Given the description of an element on the screen output the (x, y) to click on. 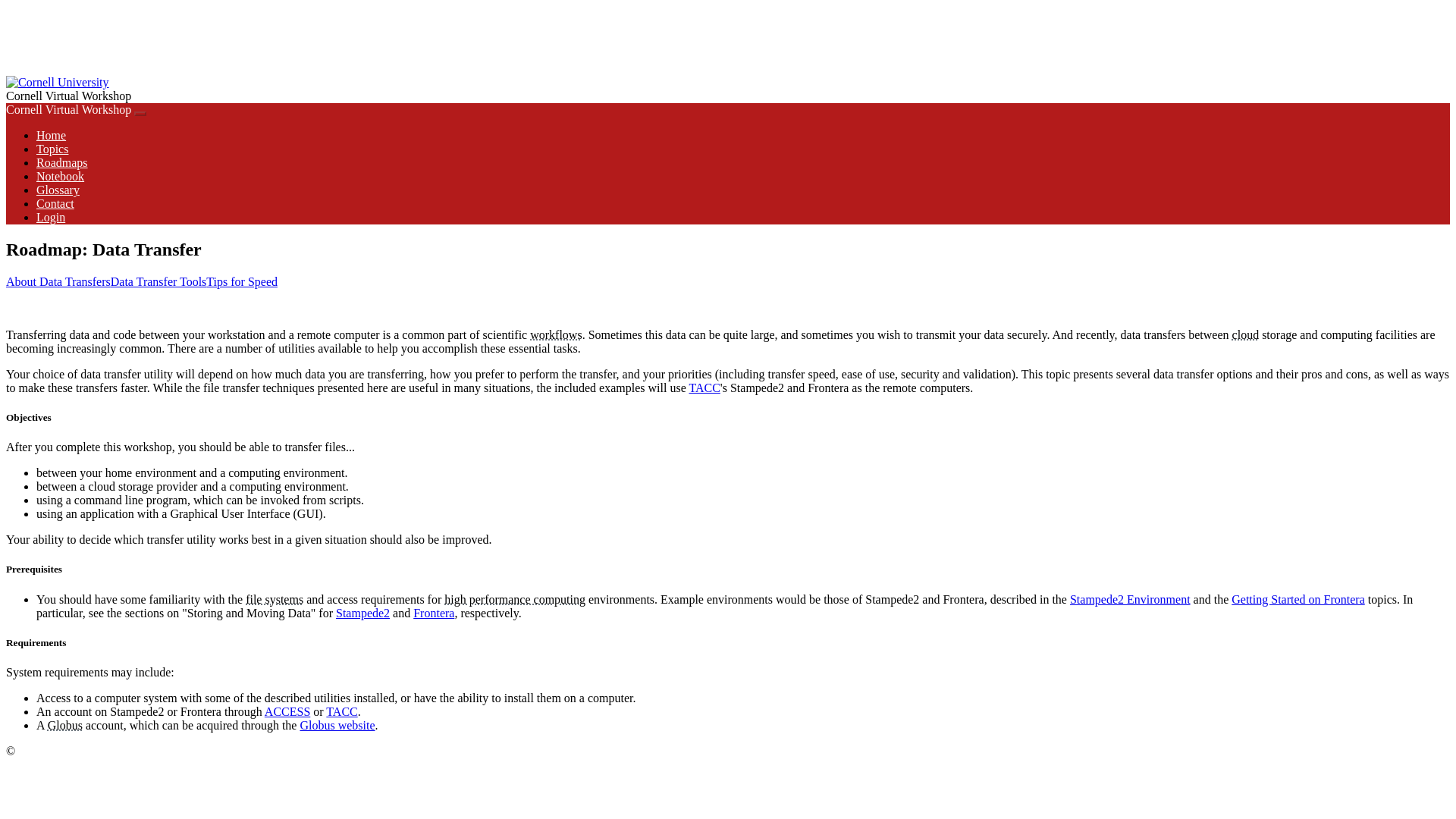
Home (50, 134)
About Data Transfers (57, 281)
Tips for Speed (242, 281)
Globus website (336, 725)
Topics (52, 148)
Contact (55, 203)
Frontera (433, 612)
TACC (703, 387)
